Given the description of an element on the screen output the (x, y) to click on. 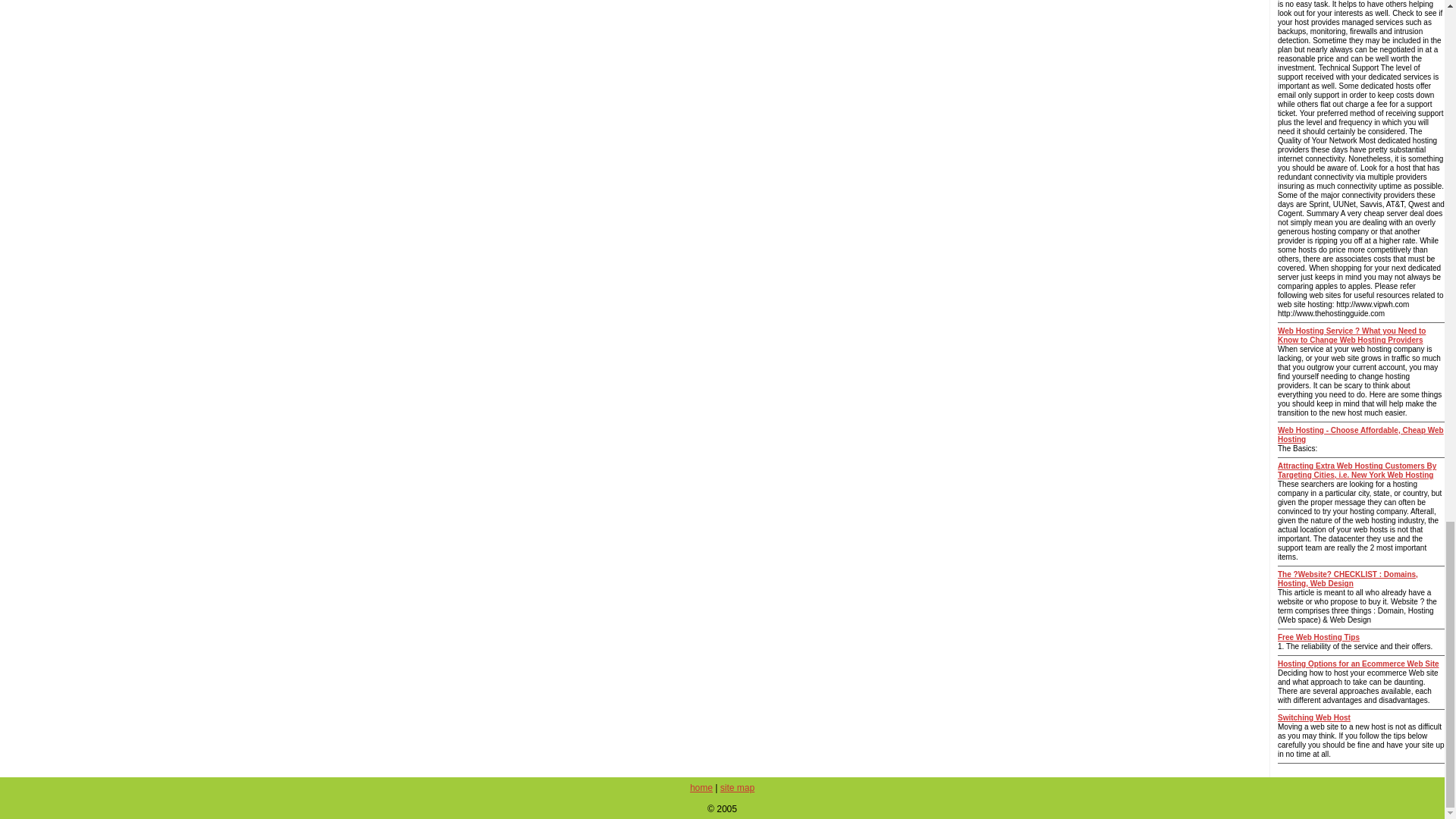
Free Web Hosting Tips (1318, 637)
site map (737, 787)
Web Hosting - Choose Affordable, Cheap Web Hosting (1361, 434)
home (701, 787)
Switching Web Host (1314, 717)
The ?Website? CHECKLIST : Domains, Hosting, Web Design (1348, 579)
Hosting Options for an Ecommerce Web Site (1358, 664)
